Given the description of an element on the screen output the (x, y) to click on. 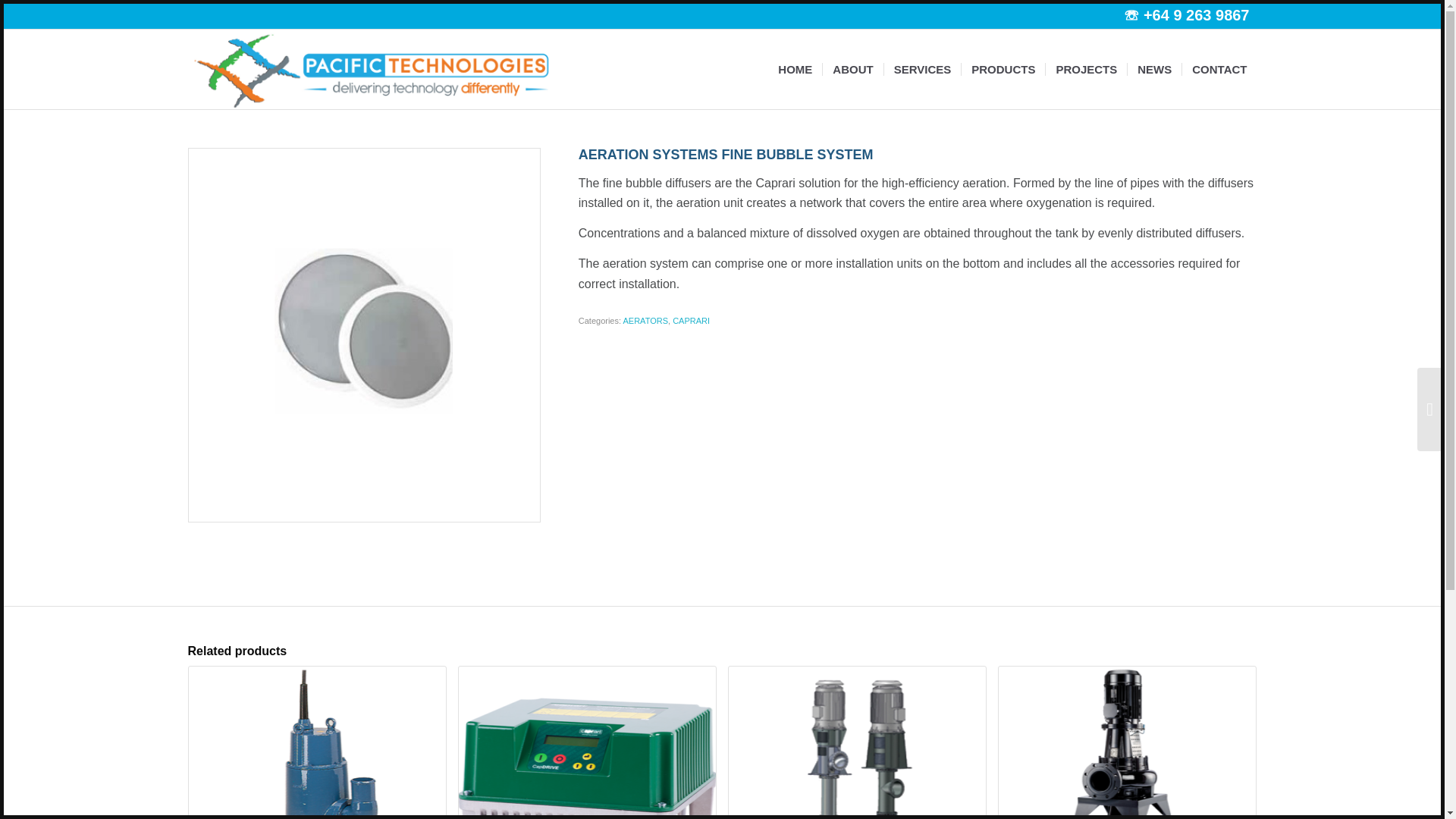
SERVICES (921, 68)
PRODUCTS (1002, 68)
